Given the description of an element on the screen output the (x, y) to click on. 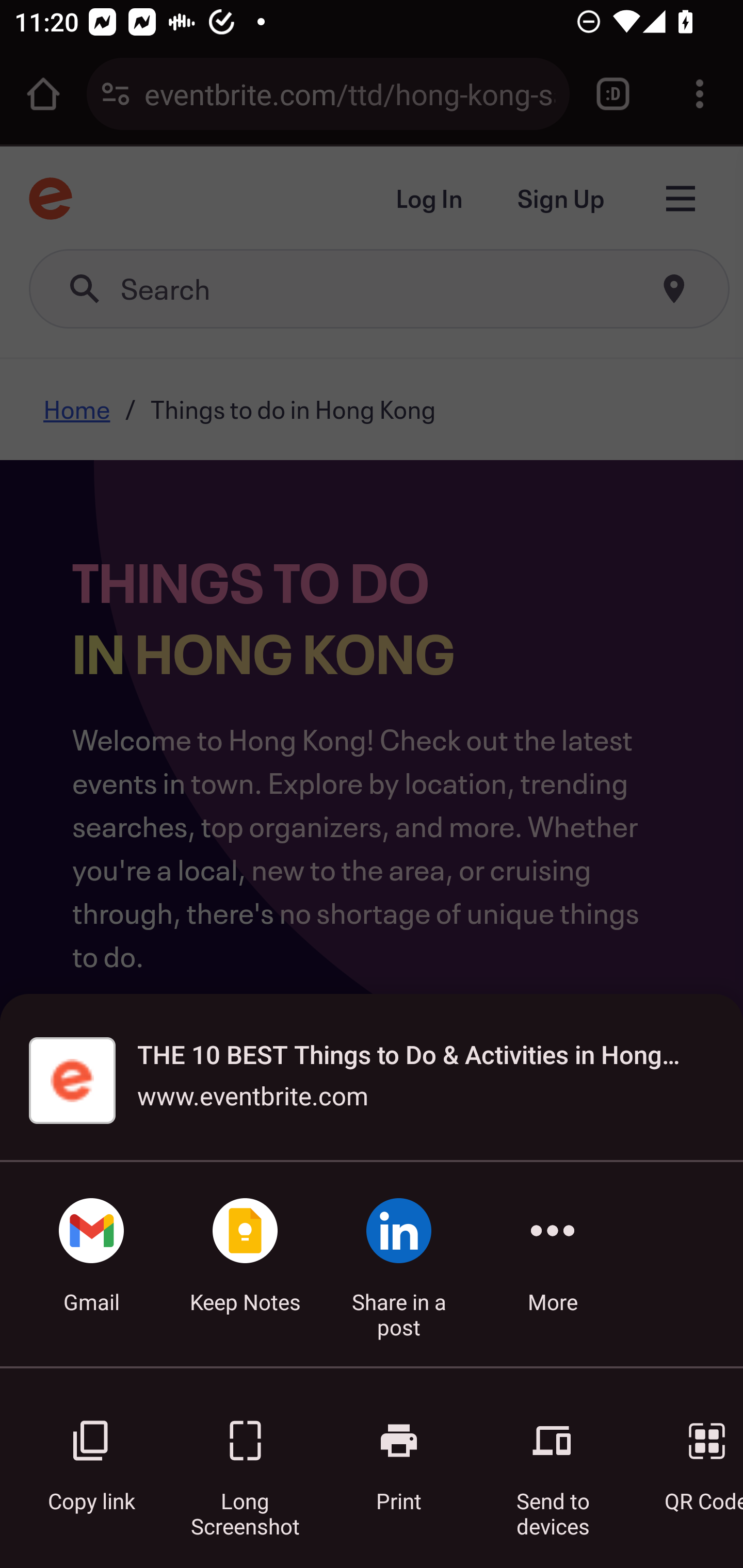
Gmail (90, 1263)
Keep Notes (244, 1263)
Share in a post (398, 1263)
More (552, 1263)
Copy link (90, 1454)
Long Screenshot (244, 1454)
Print (398, 1454)
Send to devices (552, 1454)
QR Code (693, 1454)
